Given the description of an element on the screen output the (x, y) to click on. 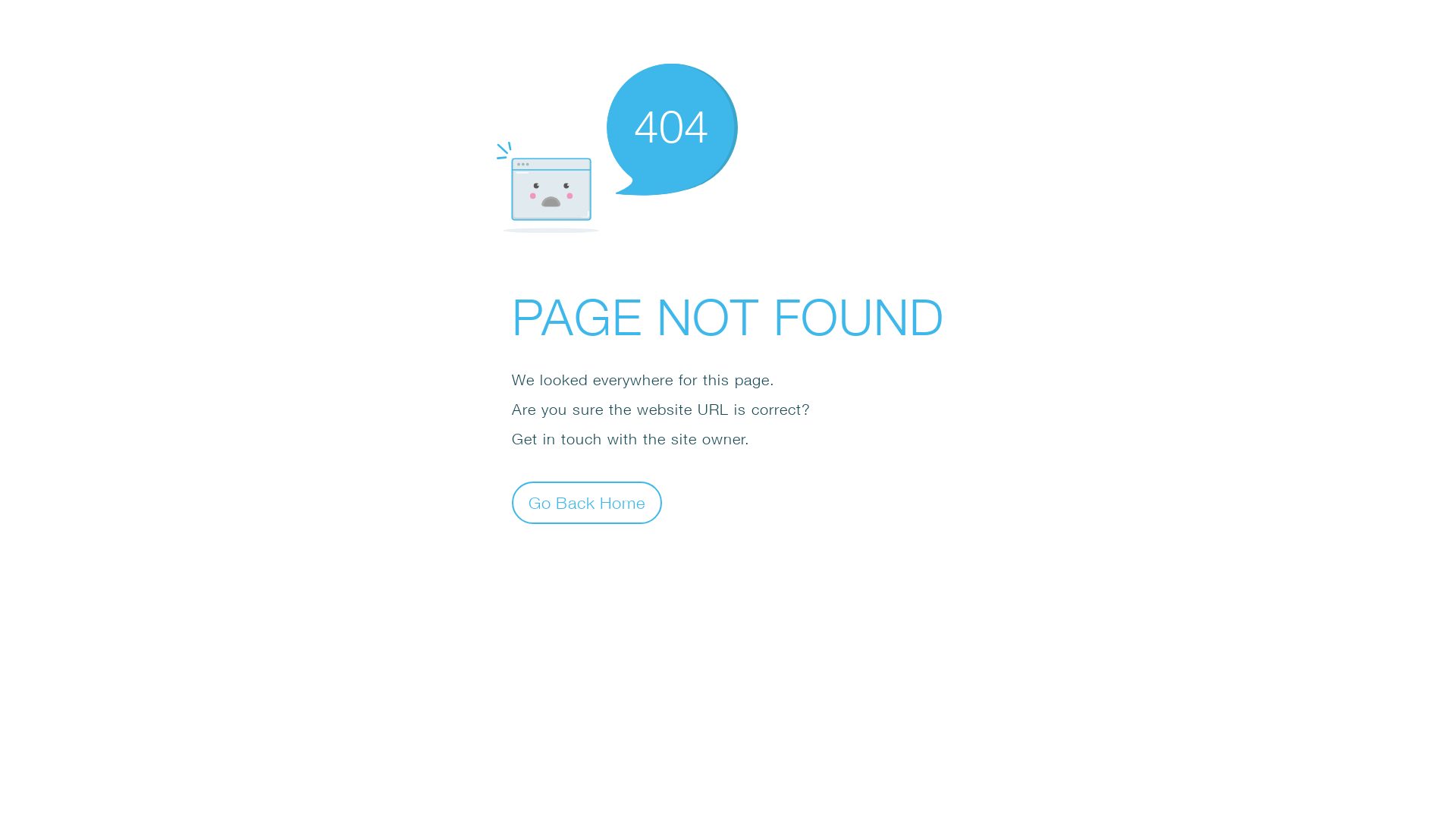
Go Back Home Element type: text (586, 502)
